Given the description of an element on the screen output the (x, y) to click on. 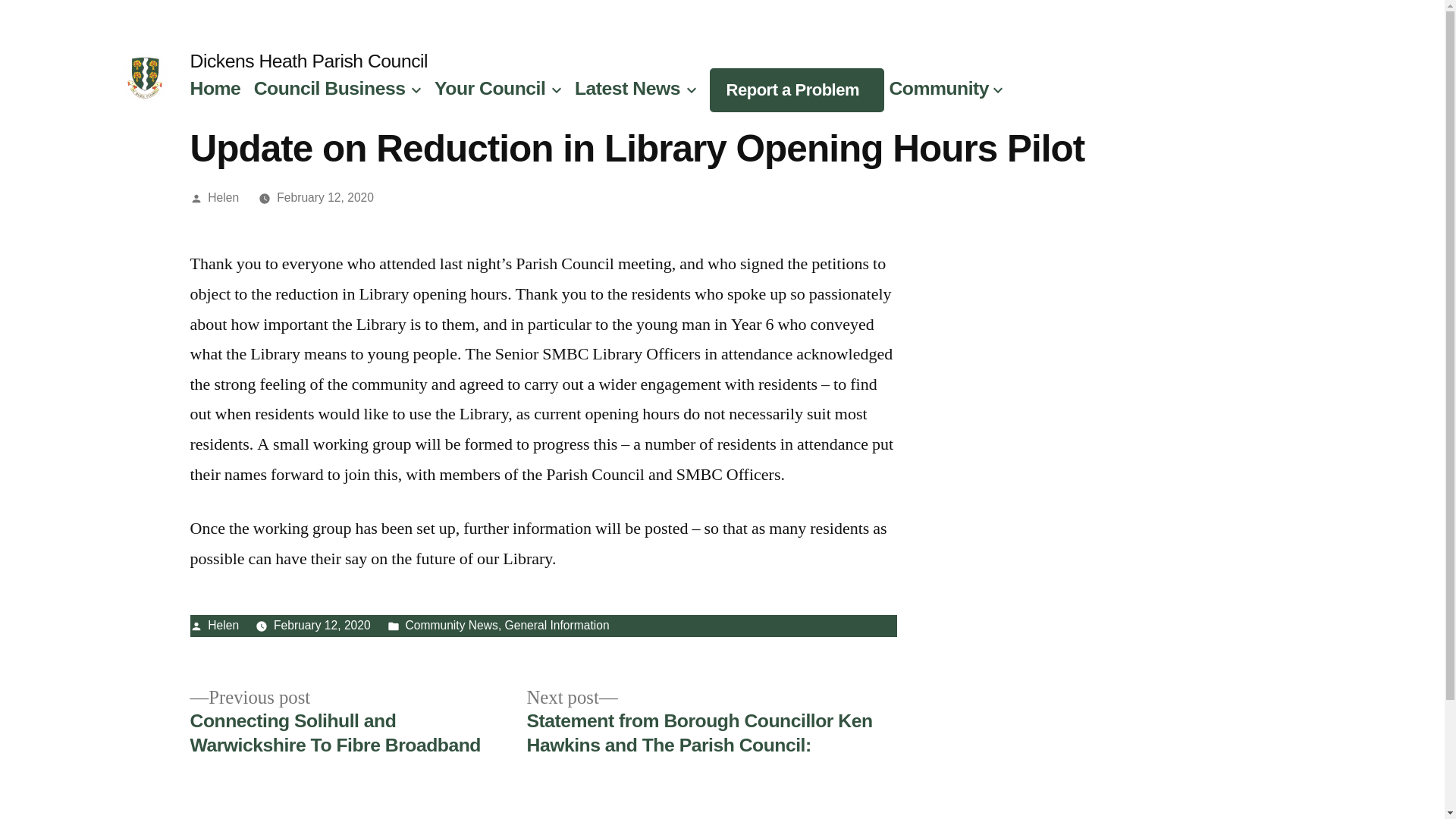
Your Council (488, 87)
Latest News (627, 87)
Council Business (329, 87)
Dickens Heath Parish Council (308, 60)
Home (214, 87)
Community (938, 87)
Report a Problem (792, 89)
